Given the description of an element on the screen output the (x, y) to click on. 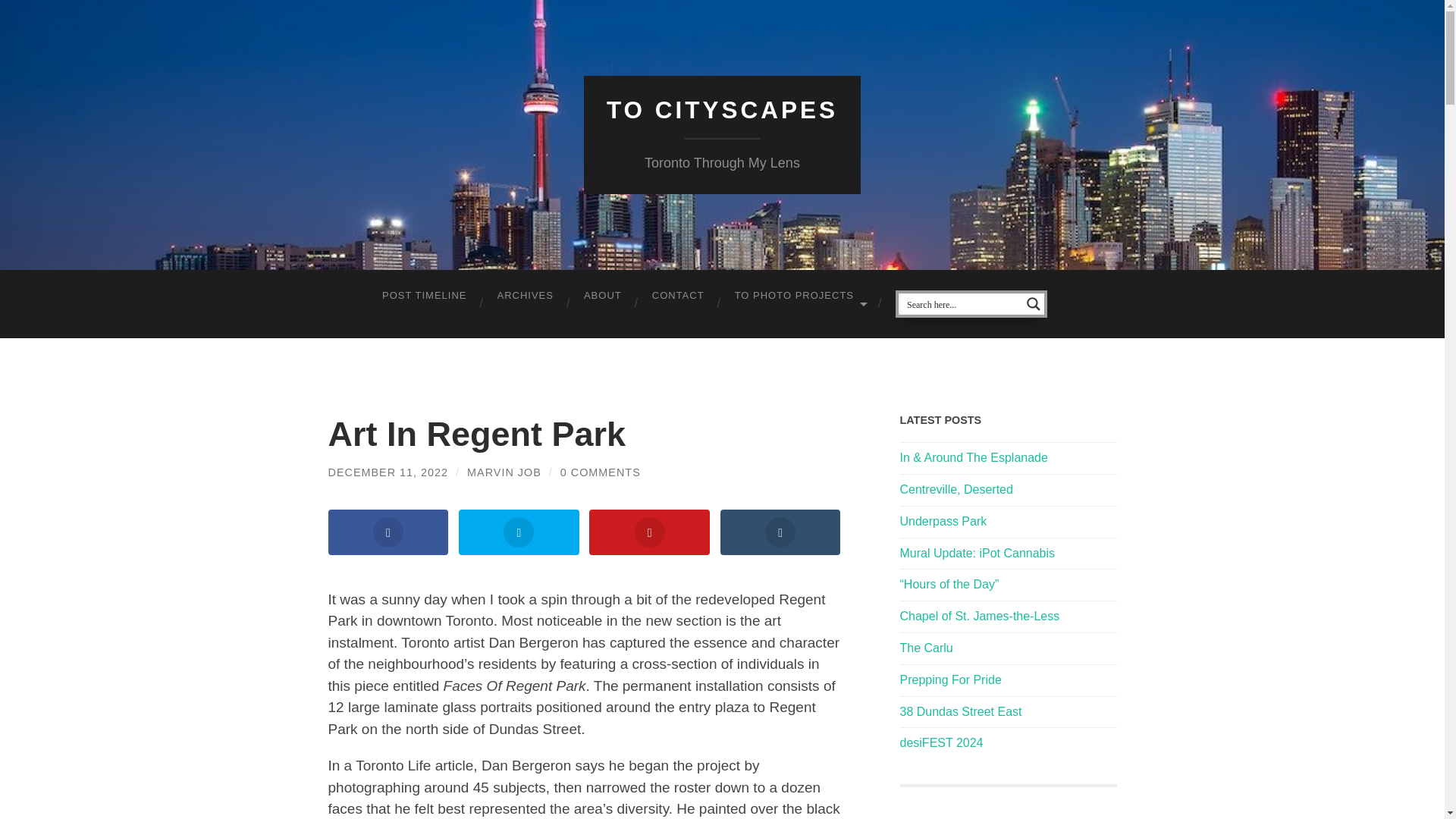
POST TIMELINE (423, 295)
TO CITYSCAPES (722, 109)
ARCHIVES (524, 295)
ABOUT (603, 295)
0 COMMENTS (600, 472)
MARVIN JOB (504, 472)
Posts by Marvin Job (504, 472)
TO PHOTO PROJECTS (799, 295)
CONTACT (678, 295)
DECEMBER 11, 2022 (387, 472)
